Given the description of an element on the screen output the (x, y) to click on. 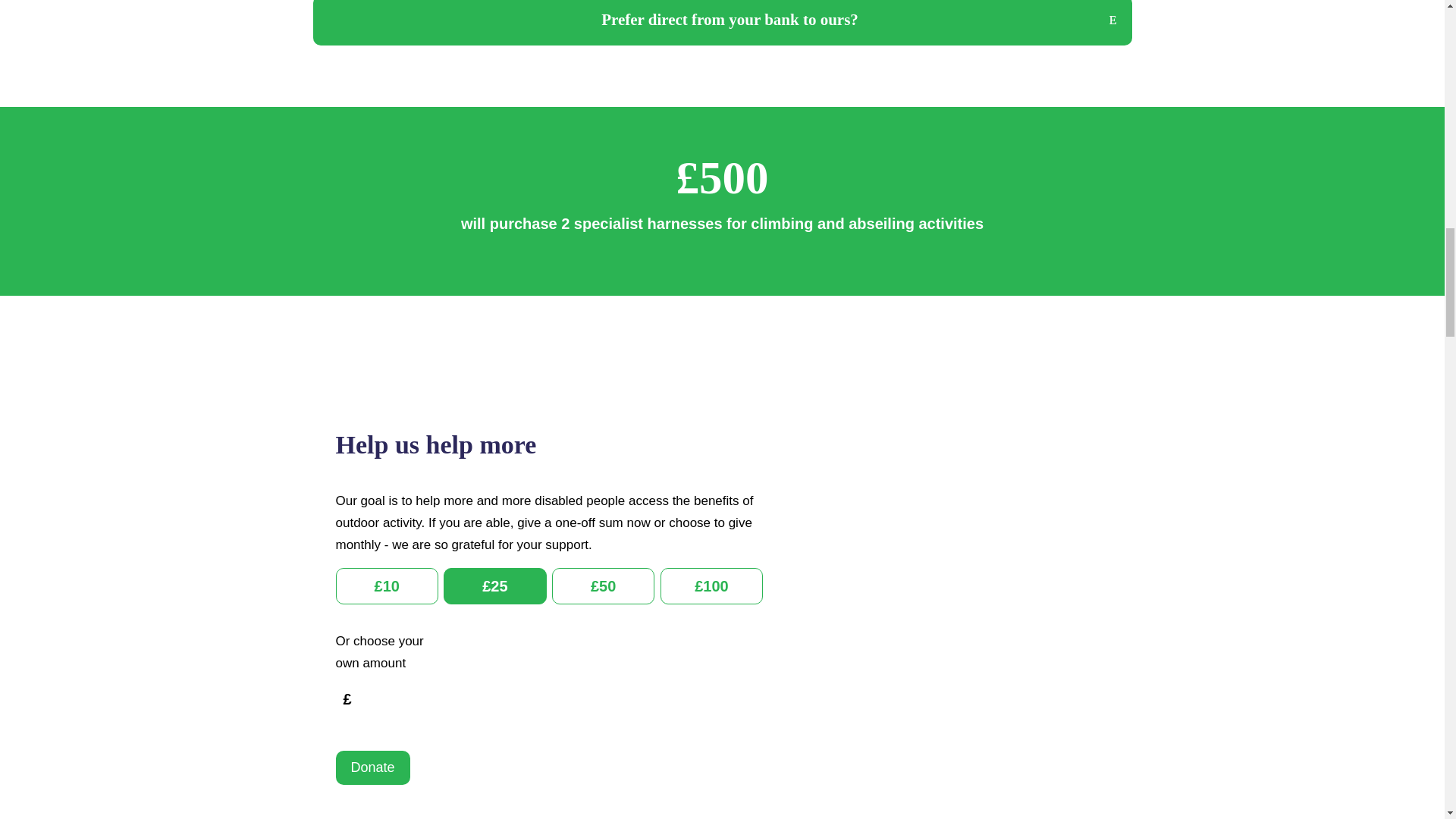
Donate (371, 767)
